Given the description of an element on the screen output the (x, y) to click on. 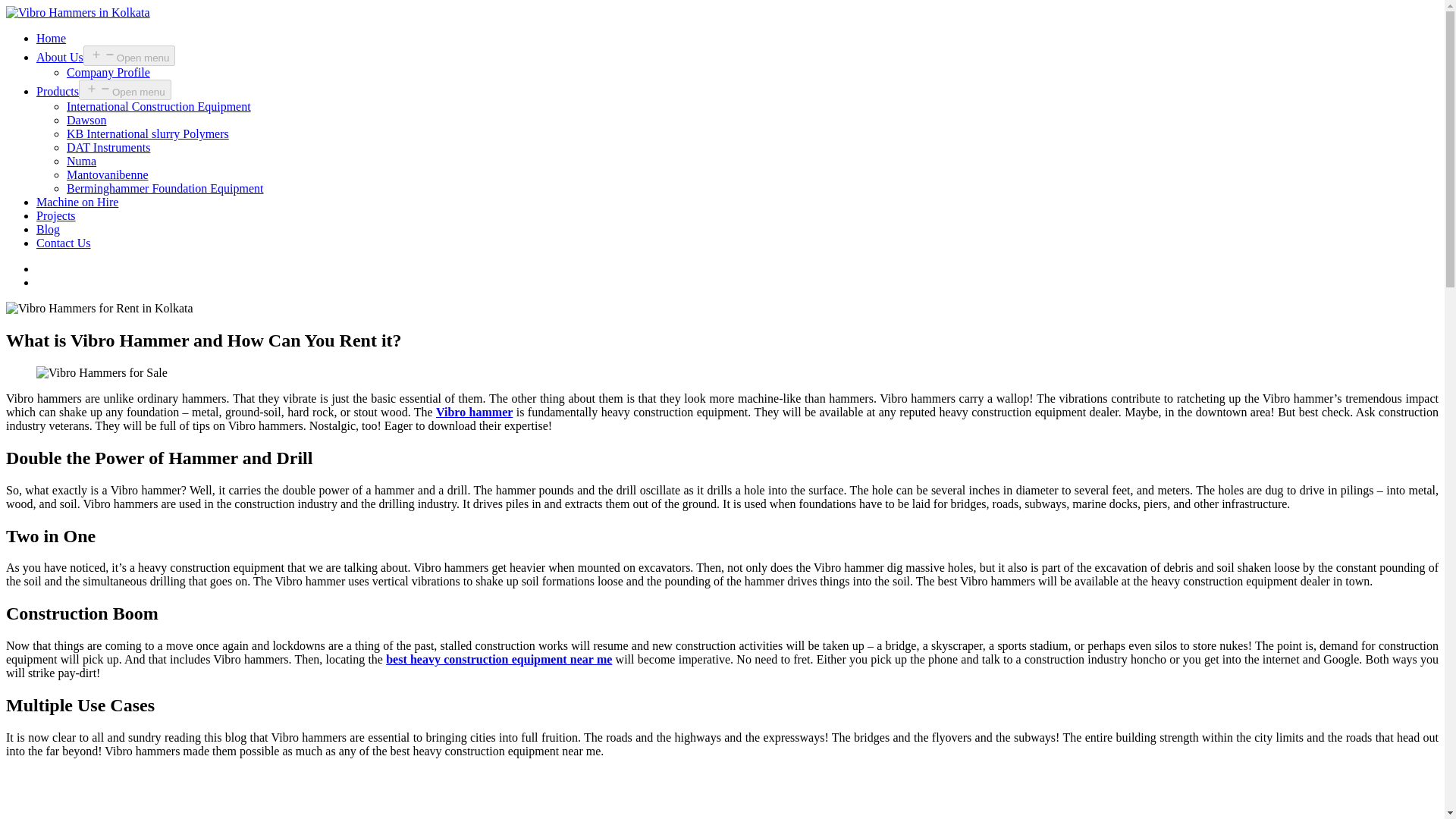
Top Vibro Hammers in Kolkata (77, 12)
Numa (81, 160)
Projects (55, 215)
Company Profile (107, 72)
About Us (59, 56)
Home (50, 38)
Top Vibro Hammers for Rent in Kolkata (99, 308)
Berminghammer Foundation Equipment (164, 187)
Products (57, 91)
KB International slurry Polymers (147, 133)
